Given the description of an element on the screen output the (x, y) to click on. 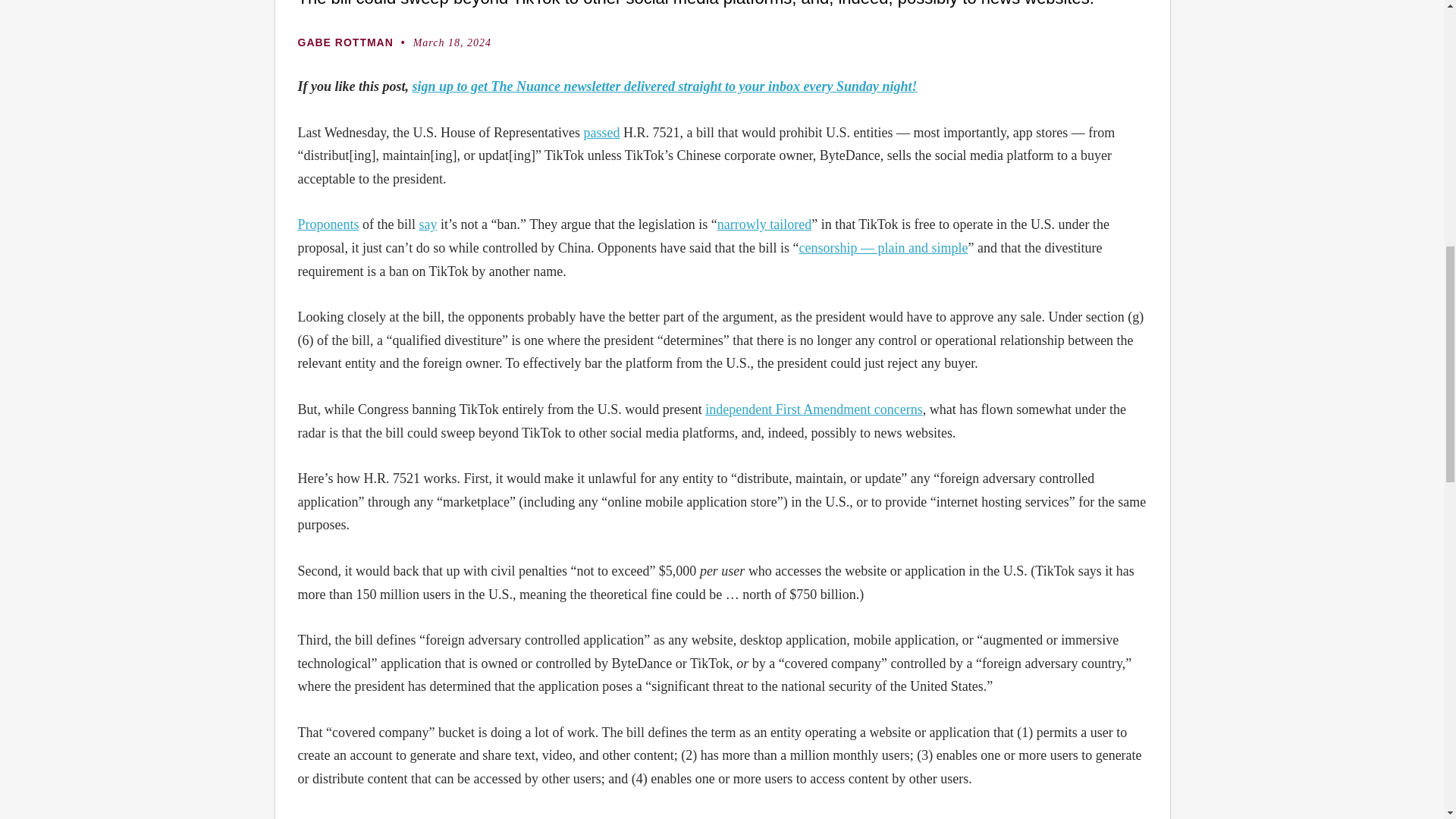
Posts by Gabe Rottman (353, 42)
